Given the description of an element on the screen output the (x, y) to click on. 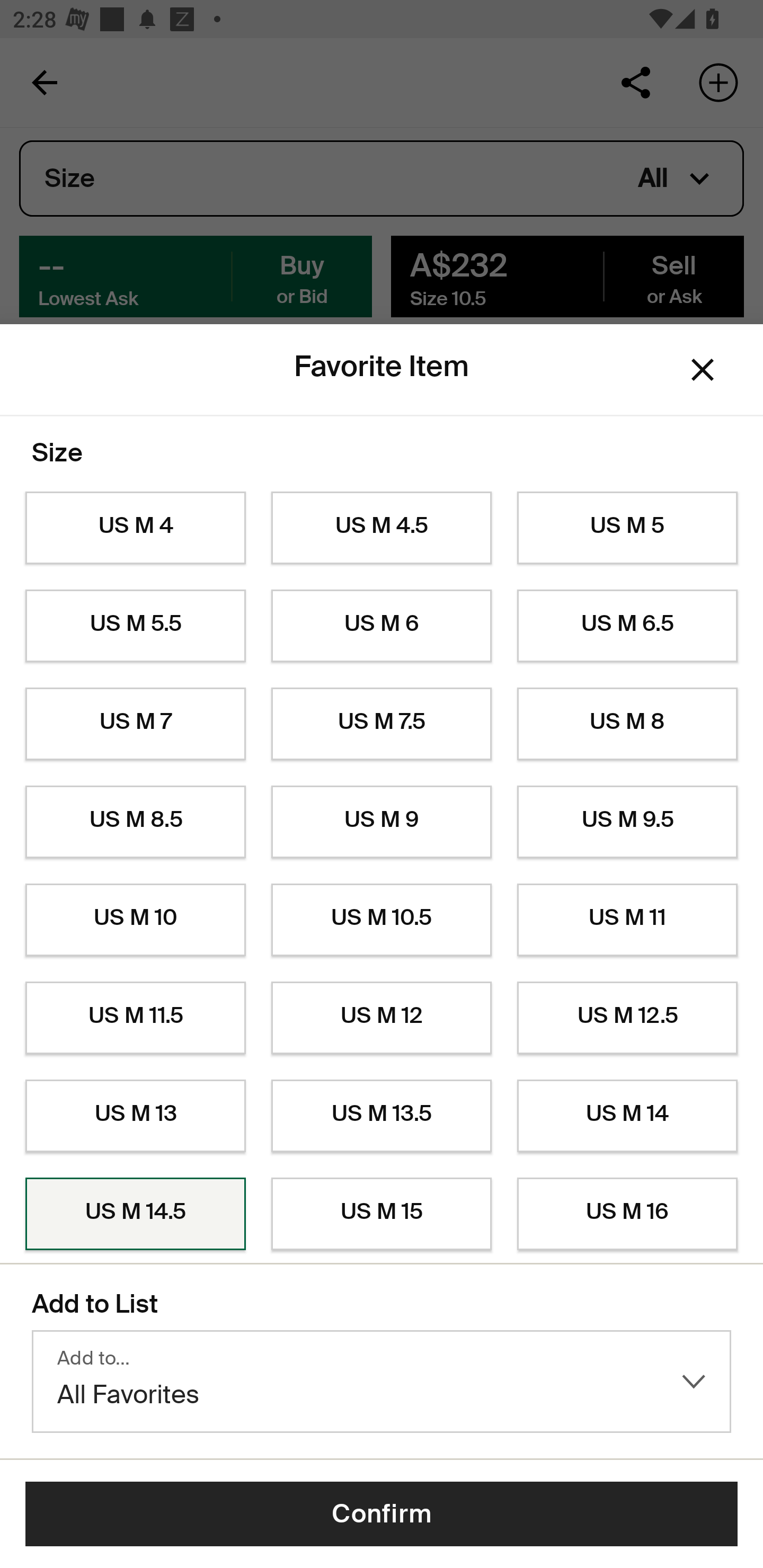
Dismiss (702, 368)
US M 4 (135, 527)
US M 4.5 (381, 527)
US M 5 (627, 527)
US M 5.5 (135, 626)
US M 6 (381, 626)
US M 6.5 (627, 626)
US M 7 (135, 724)
US M 7.5 (381, 724)
US M 8 (627, 724)
US M 8.5 (135, 822)
US M 9 (381, 822)
US M 9.5 (627, 822)
US M 10 (135, 919)
US M 10.5 (381, 919)
US M 11 (627, 919)
US M 11.5 (135, 1018)
US M 12 (381, 1018)
US M 12.5 (627, 1018)
US M 13 (135, 1116)
US M 13.5 (381, 1116)
US M 14 (627, 1116)
US M 14.5 (135, 1214)
US M 15 (381, 1214)
US M 16 (627, 1214)
Add to… All Favorites (381, 1381)
Confirm (381, 1513)
